Given the description of an element on the screen output the (x, y) to click on. 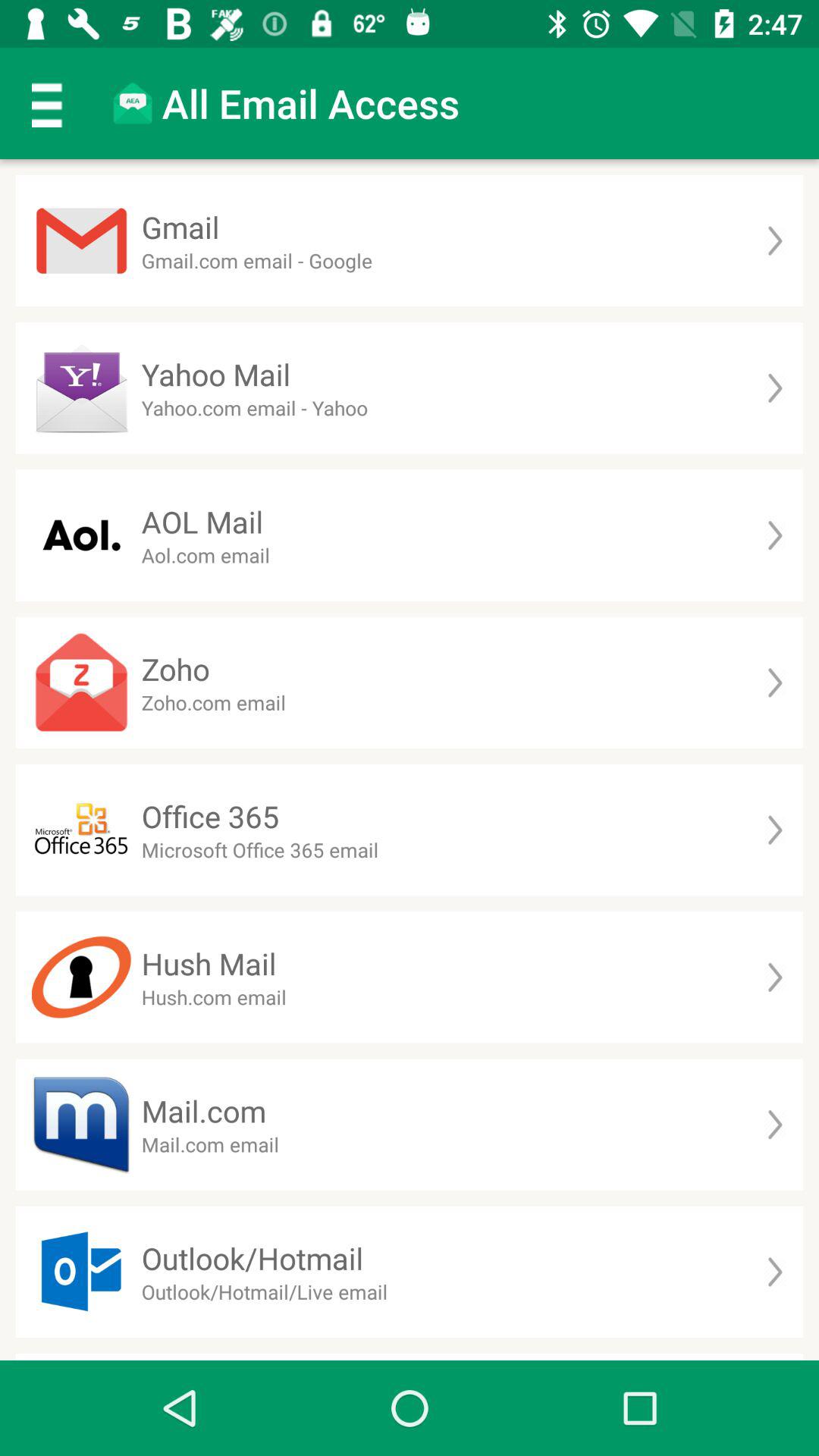
tap yahoo mail (215, 374)
